Given the description of an element on the screen output the (x, y) to click on. 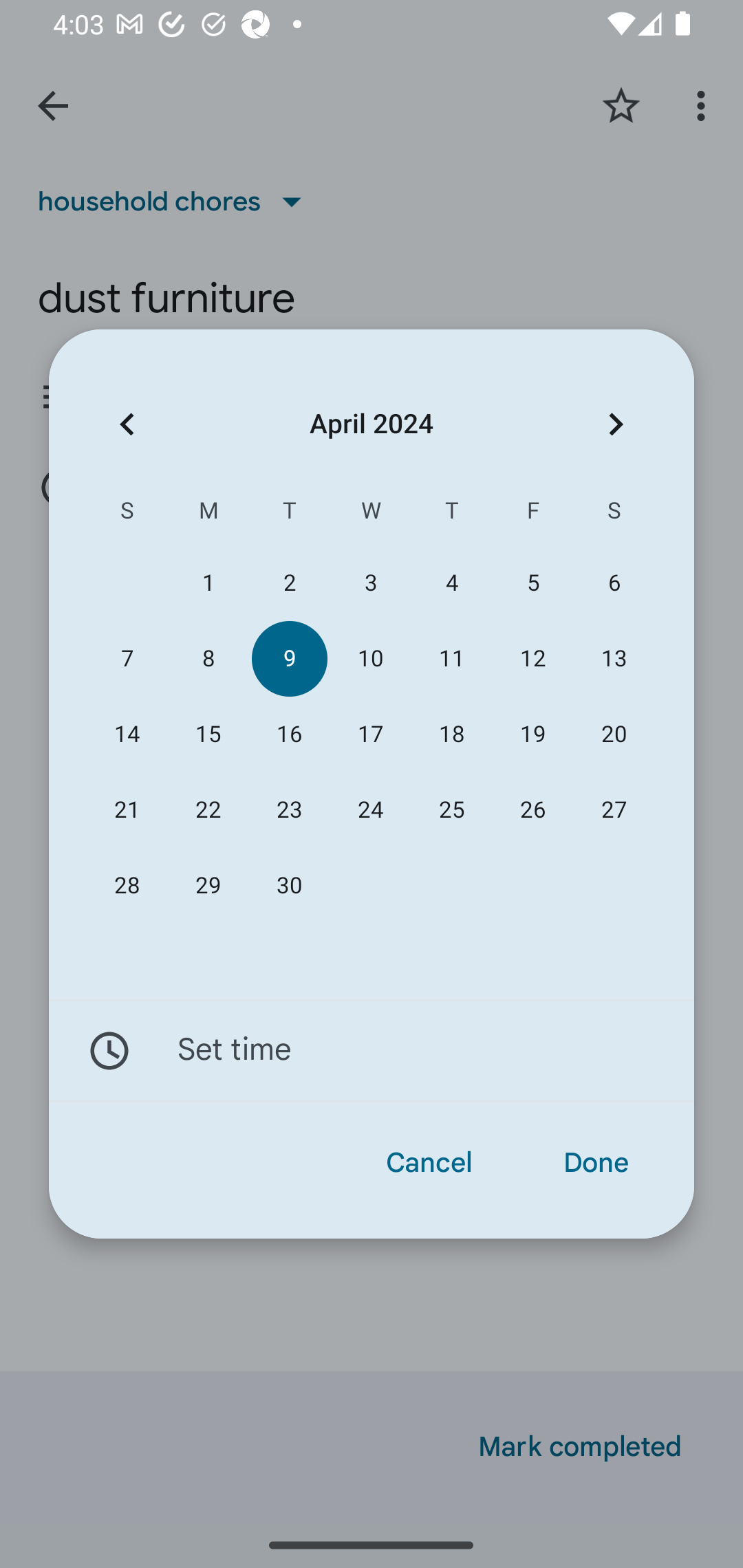
Previous month (126, 424)
Next month (615, 424)
1 01 April 2024 (207, 582)
2 02 April 2024 (288, 582)
3 03 April 2024 (370, 582)
4 04 April 2024 (451, 582)
5 05 April 2024 (532, 582)
6 06 April 2024 (613, 582)
7 07 April 2024 (126, 658)
8 08 April 2024 (207, 658)
9 09 April 2024 (288, 658)
10 10 April 2024 (370, 658)
11 11 April 2024 (451, 658)
12 12 April 2024 (532, 658)
13 13 April 2024 (613, 658)
14 14 April 2024 (126, 734)
15 15 April 2024 (207, 734)
16 16 April 2024 (288, 734)
17 17 April 2024 (370, 734)
18 18 April 2024 (451, 734)
19 19 April 2024 (532, 734)
20 20 April 2024 (613, 734)
21 21 April 2024 (126, 810)
22 22 April 2024 (207, 810)
23 23 April 2024 (288, 810)
24 24 April 2024 (370, 810)
25 25 April 2024 (451, 810)
26 26 April 2024 (532, 810)
27 27 April 2024 (613, 810)
28 28 April 2024 (126, 885)
29 29 April 2024 (207, 885)
30 30 April 2024 (288, 885)
Set time (371, 1050)
Cancel (429, 1162)
Done (595, 1162)
